Given the description of an element on the screen output the (x, y) to click on. 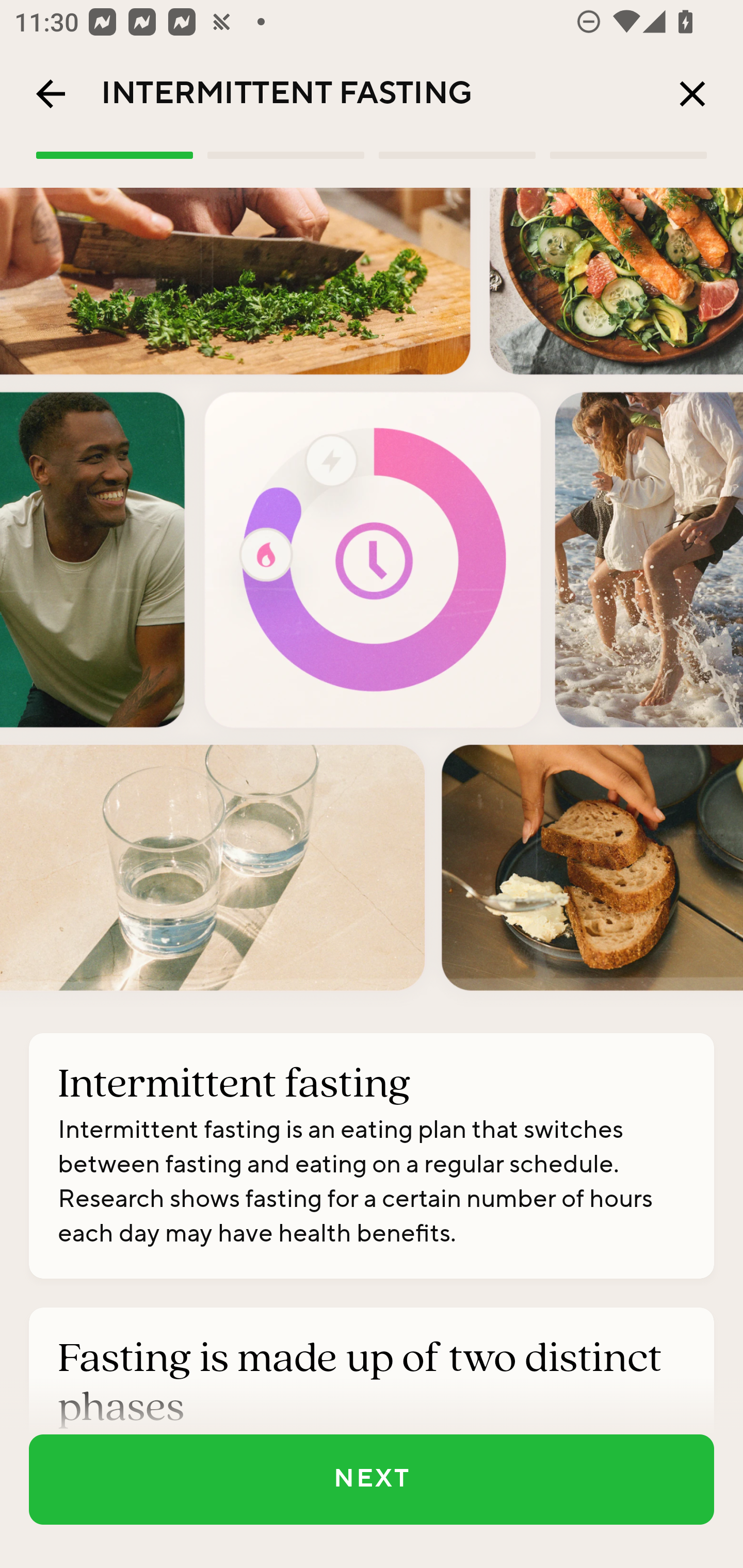
NEXT (371, 1479)
